Given the description of an element on the screen output the (x, y) to click on. 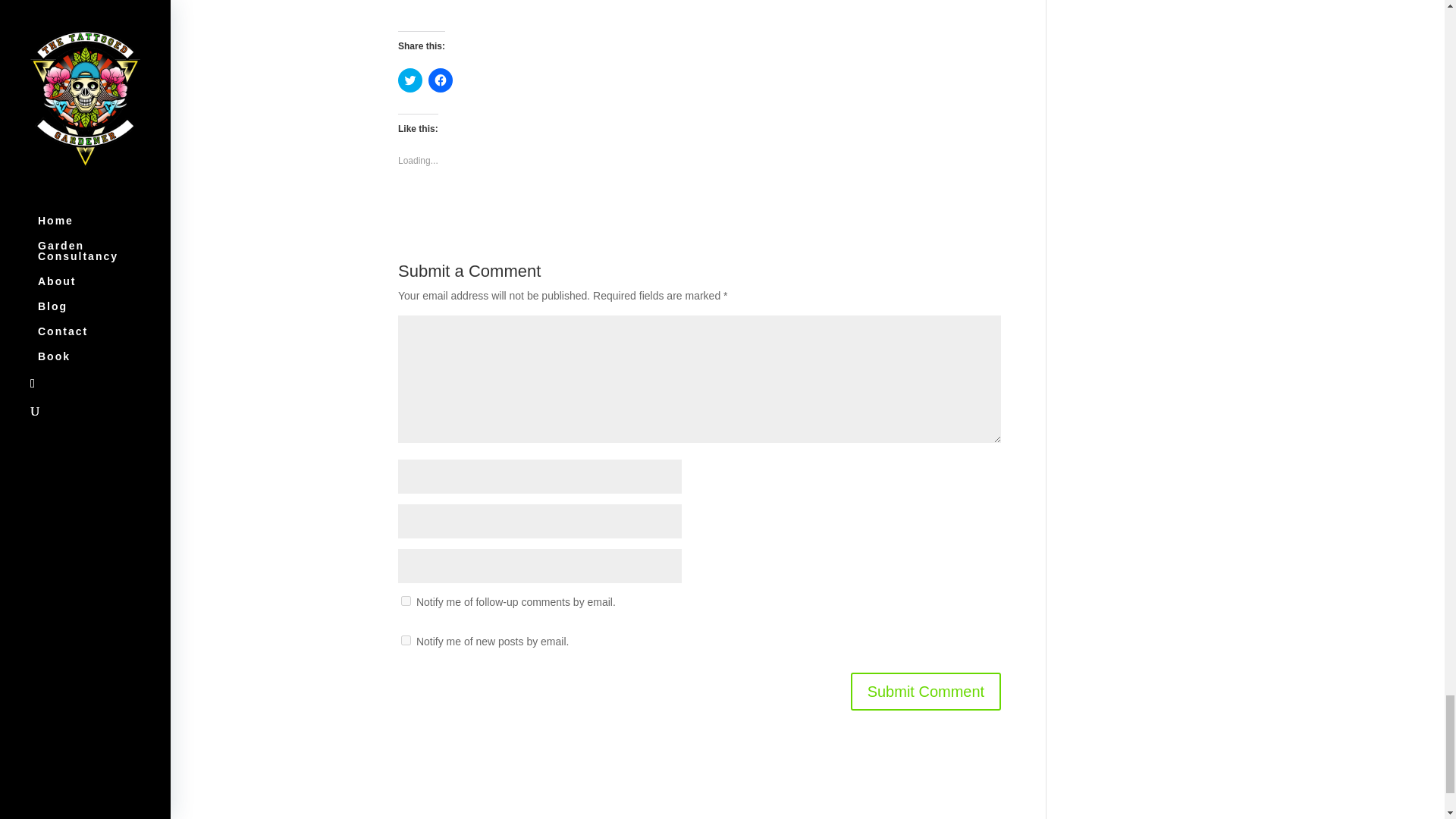
Submit Comment (925, 691)
subscribe (405, 601)
Click to share on Twitter (409, 79)
subscribe (405, 640)
Submit Comment (925, 691)
Click to share on Facebook (440, 79)
